Given the description of an element on the screen output the (x, y) to click on. 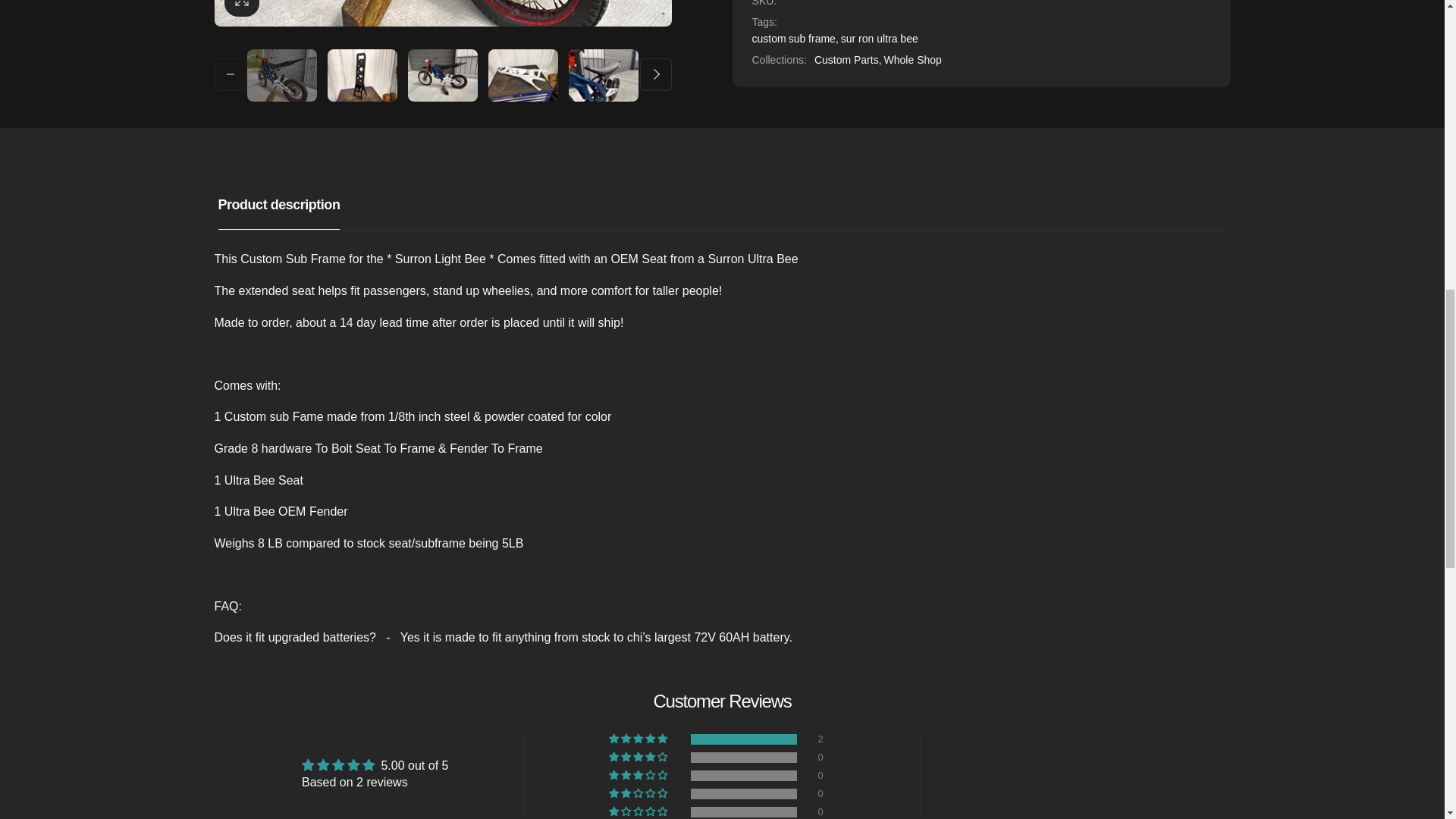
Custom Parts (847, 59)
Show products matching tag sur ron ultra bee (879, 38)
Show products matching tag custom (769, 38)
Whole Shop (912, 59)
Show products matching tag sub frame (812, 38)
